Given the description of an element on the screen output the (x, y) to click on. 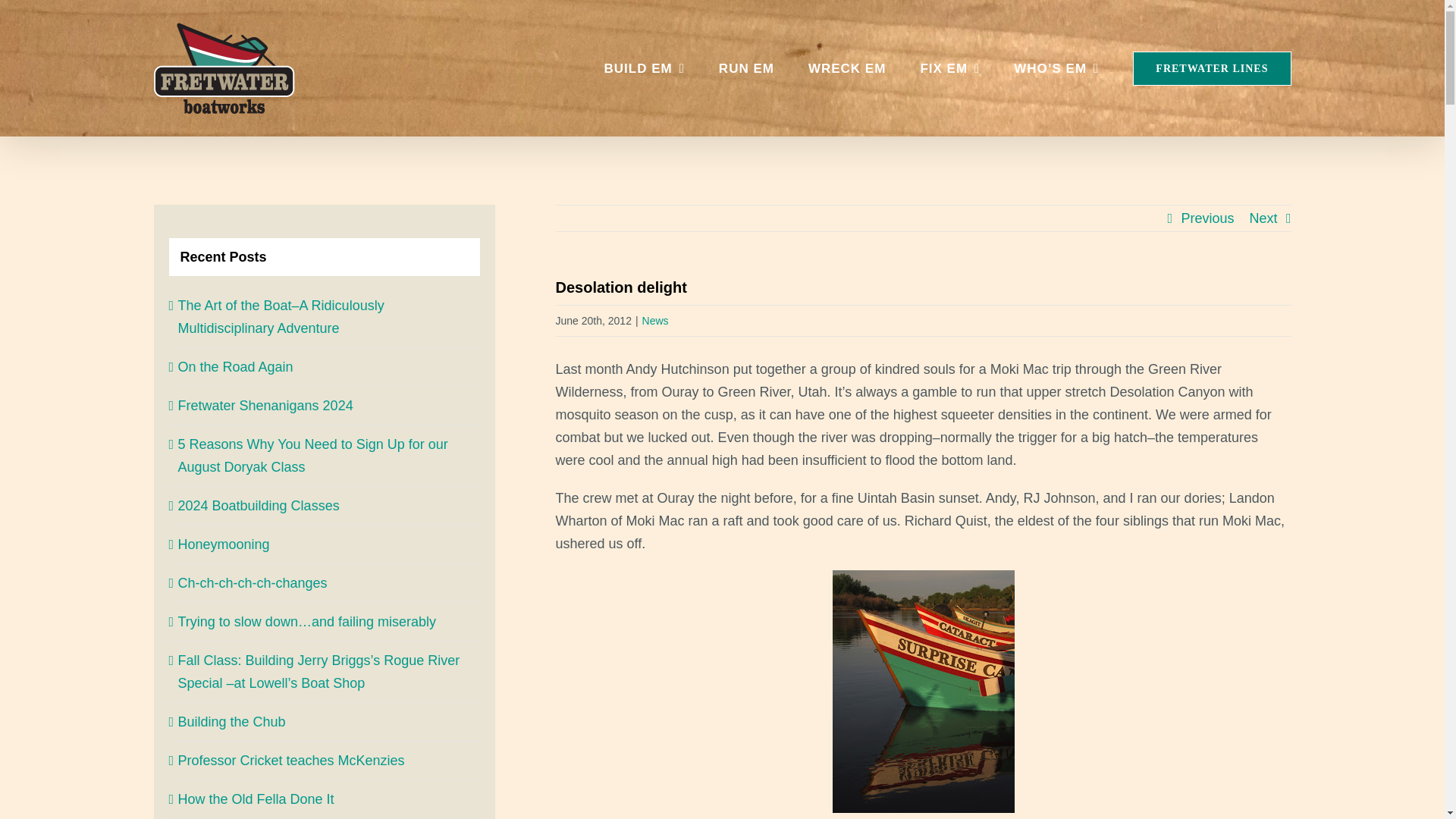
FRETWATER LINES (1211, 68)
